Given the description of an element on the screen output the (x, y) to click on. 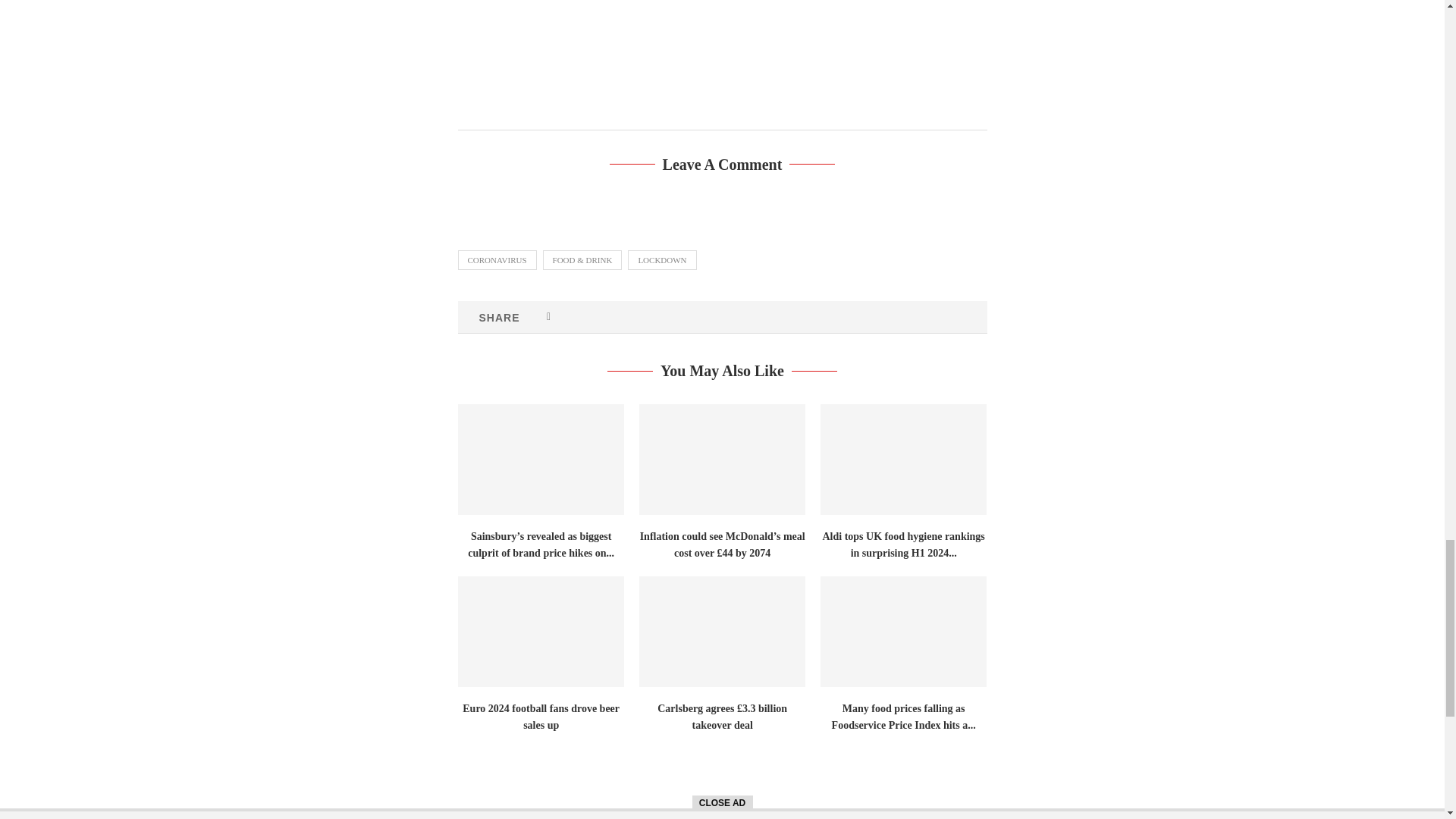
Euro 2024 football fans drove beer sales up (541, 631)
